Given the description of an element on the screen output the (x, y) to click on. 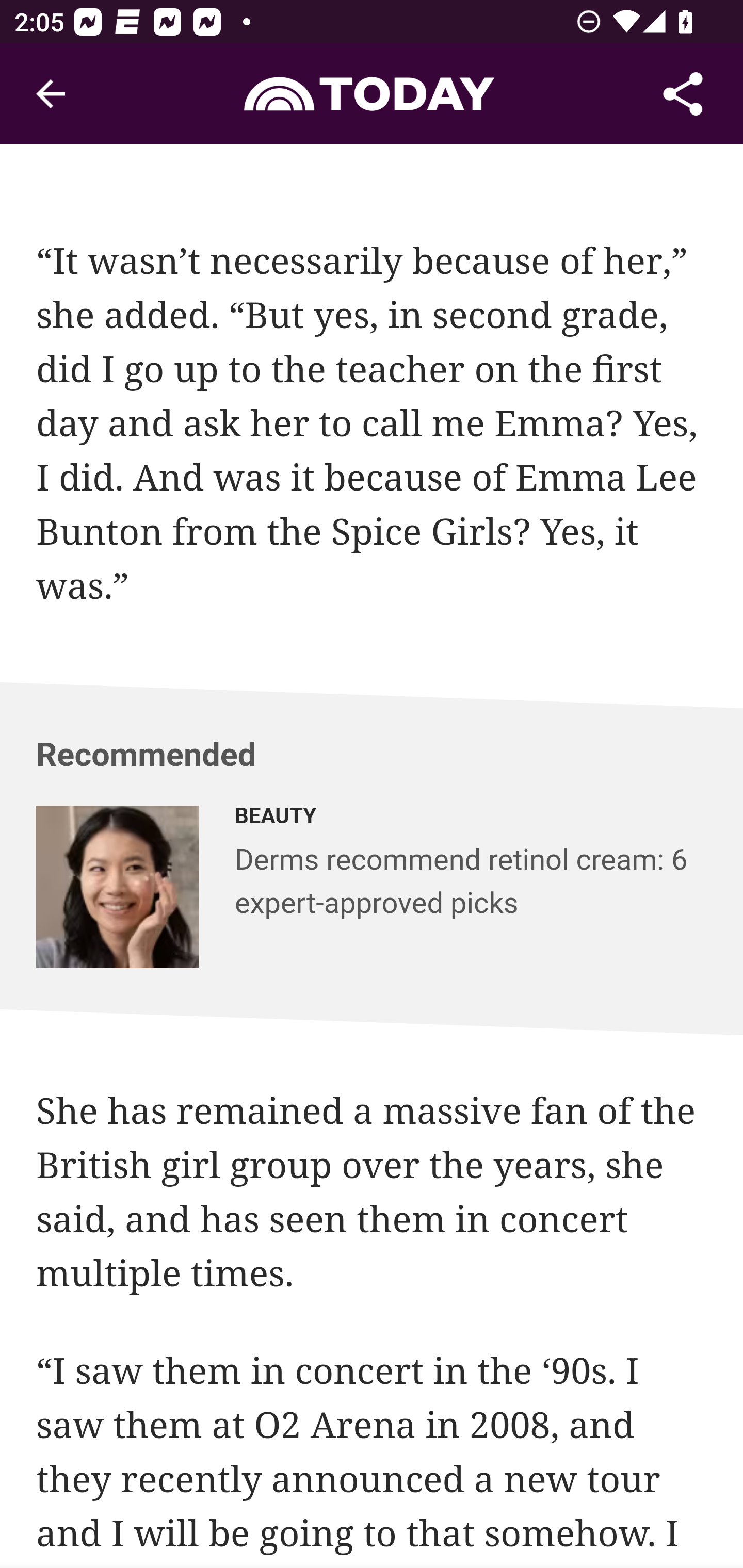
Navigate up (50, 93)
Share Article, button (683, 94)
Header, Today (371, 93)
BEAUTY (471, 819)
best-retinol-creams-t257844 (117, 886)
